Given the description of an element on the screen output the (x, y) to click on. 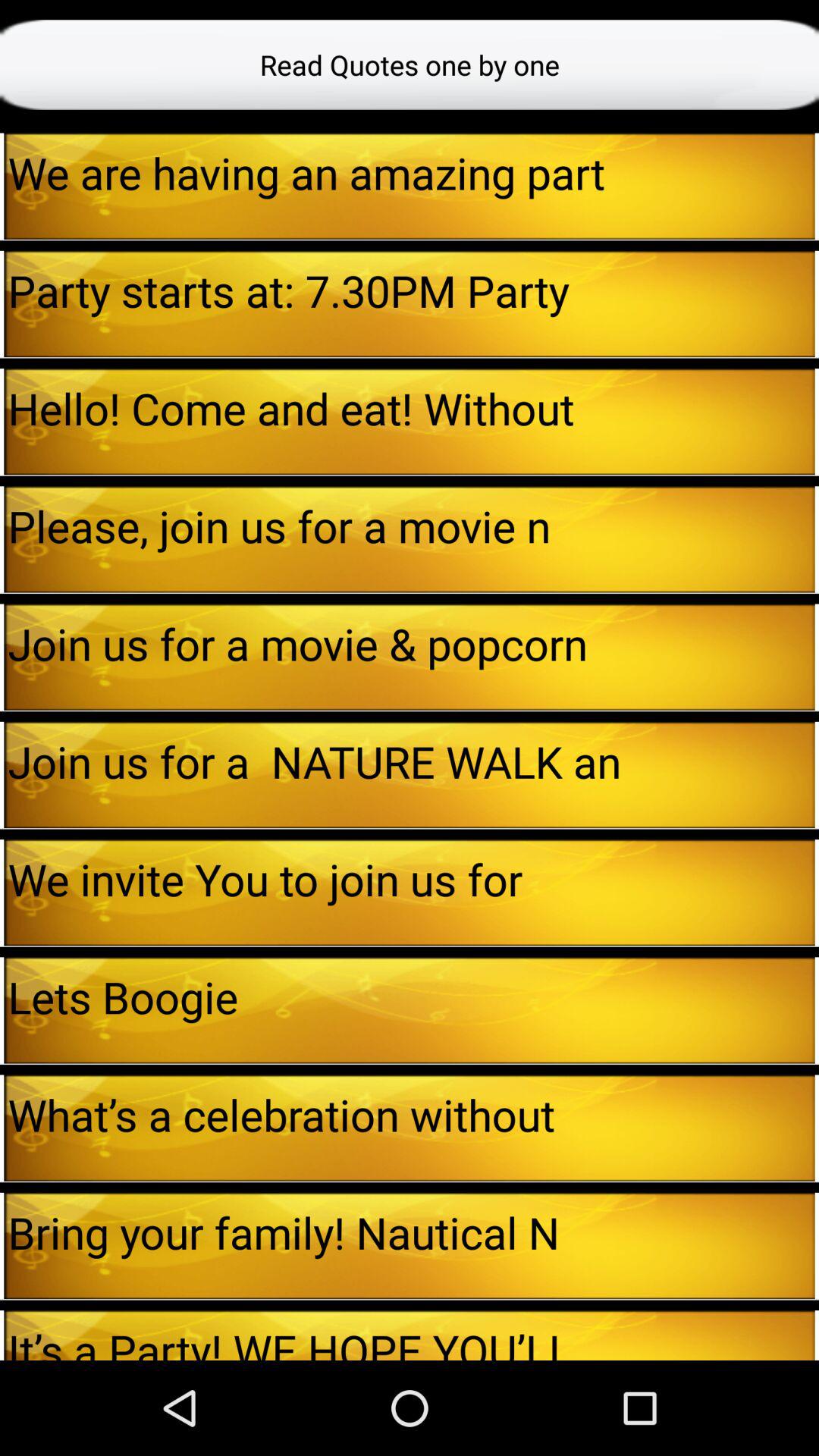
tap the icon next to join us for app (1, 657)
